Given the description of an element on the screen output the (x, y) to click on. 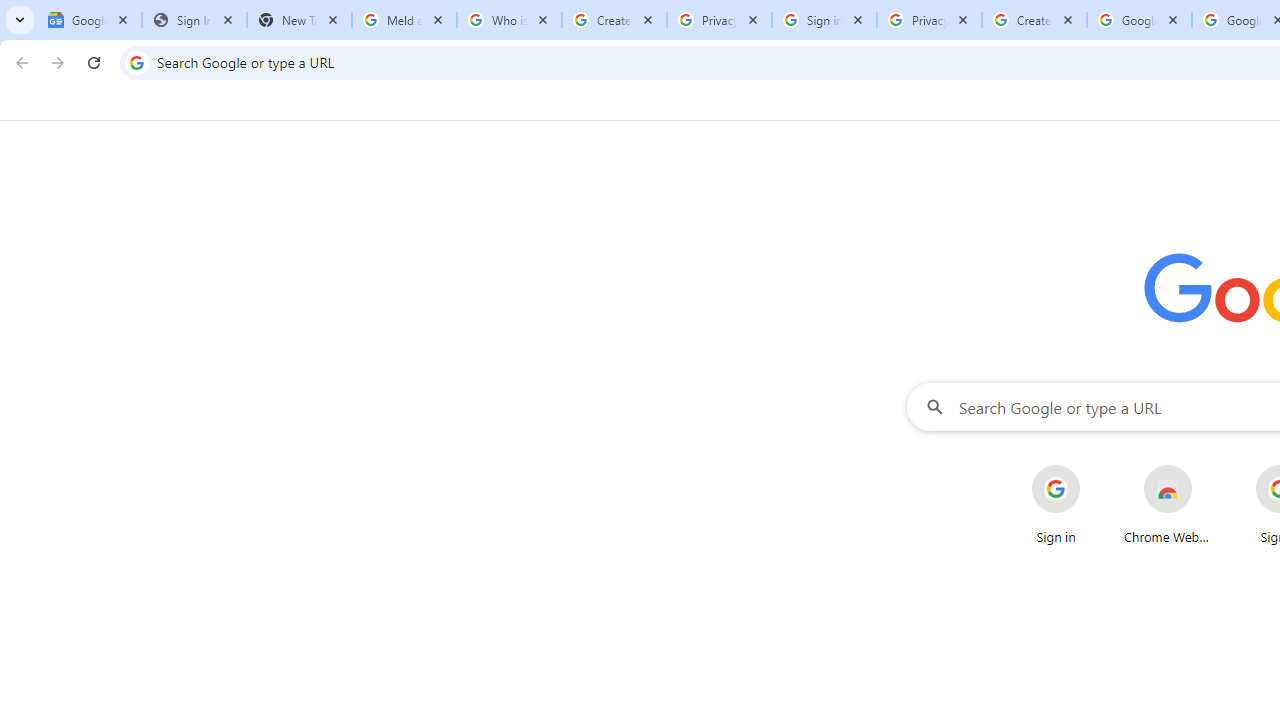
Who is my administrator? - Google Account Help (509, 20)
Chrome Web Store (1167, 504)
Create your Google Account (1033, 20)
New Tab (299, 20)
Sign in - Google Accounts (823, 20)
